Given the description of an element on the screen output the (x, y) to click on. 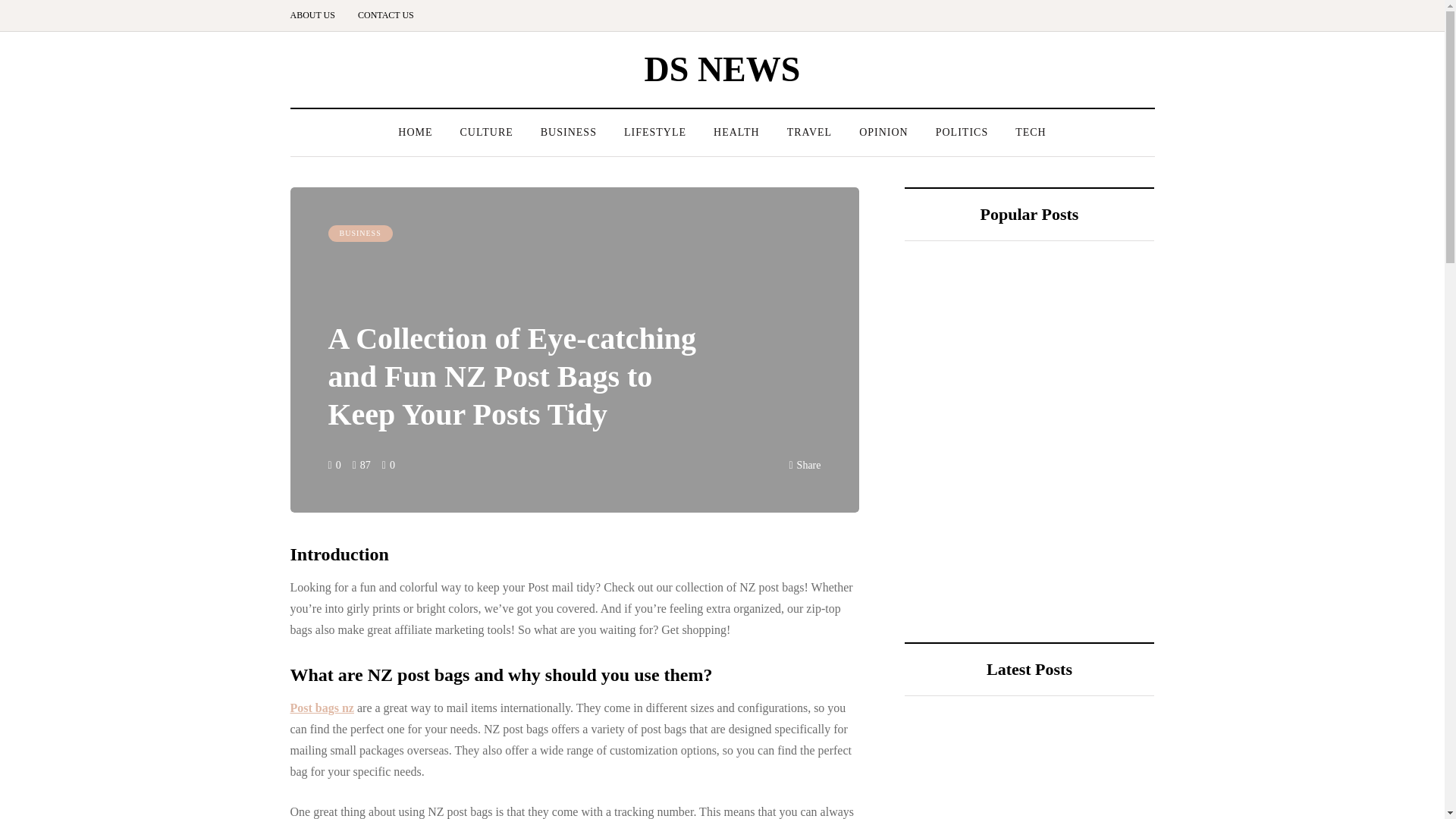
HOME (414, 132)
BUSINESS (568, 132)
BUSINESS (359, 233)
POLITICS (961, 132)
HEALTH (736, 132)
CONTACT US (385, 15)
DS NEWS (722, 68)
ABOUT US (317, 15)
Post bags nz (321, 707)
OPINION (883, 132)
CULTURE (485, 132)
LIFESTYLE (655, 132)
TECH (1030, 132)
TRAVEL (809, 132)
